Given the description of an element on the screen output the (x, y) to click on. 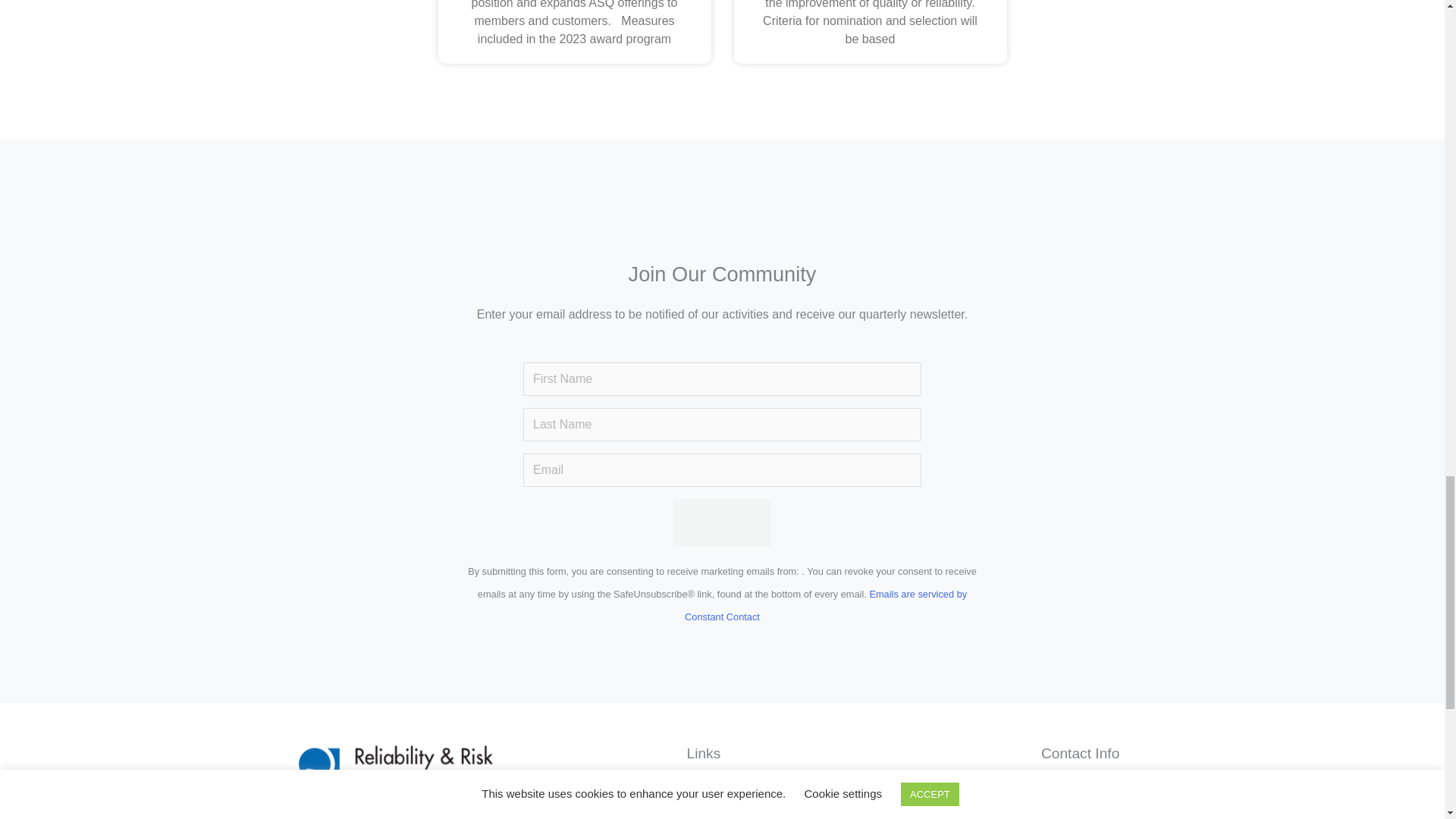
Emails are serviced by Constant Contact (825, 605)
Sign up (721, 522)
Sign up (721, 522)
